Given the description of an element on the screen output the (x, y) to click on. 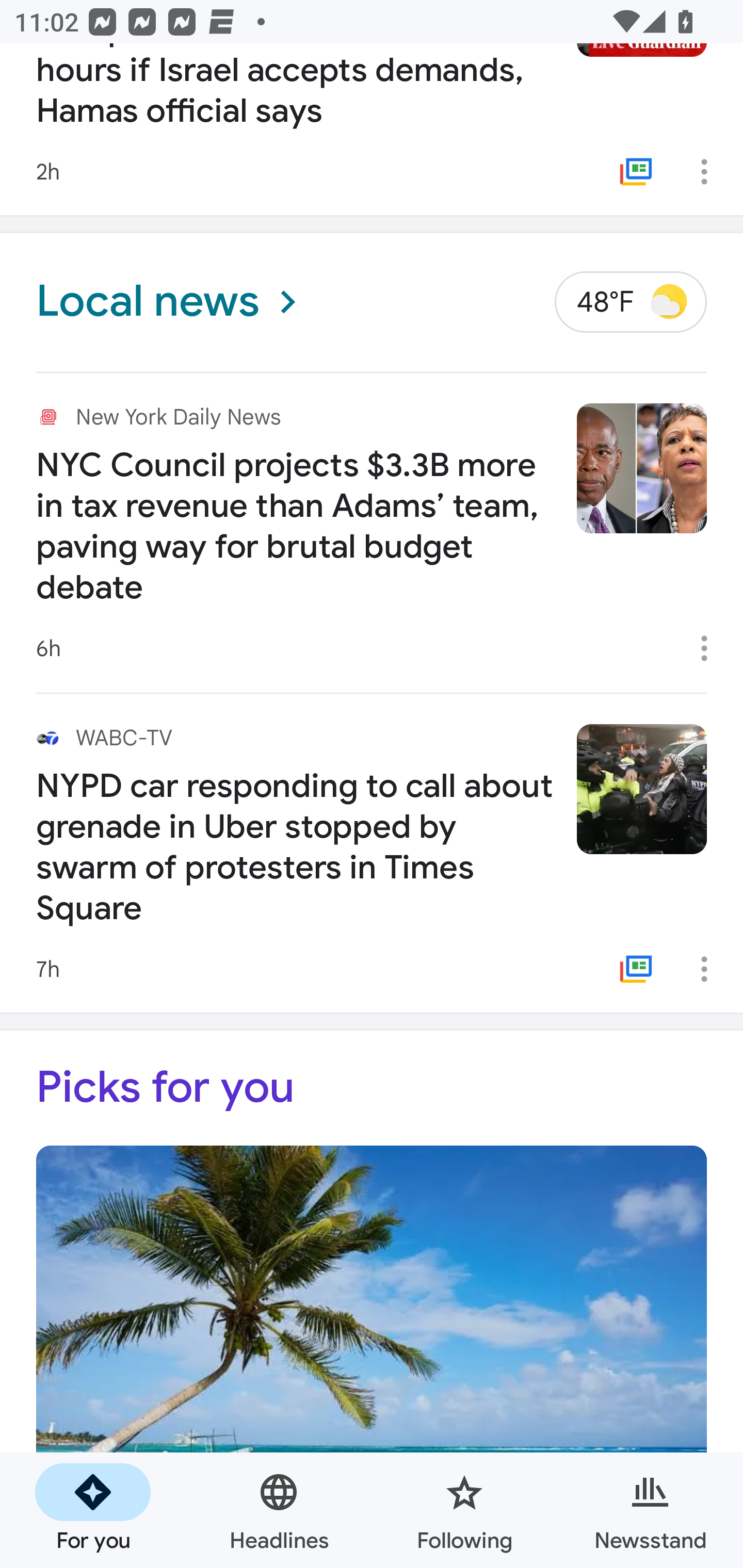
More options (711, 171)
More options (711, 648)
More options (711, 968)
Travel Off Path (371, 1357)
For you (92, 1509)
Headlines (278, 1509)
Following (464, 1509)
Newsstand (650, 1509)
